Given the description of an element on the screen output the (x, y) to click on. 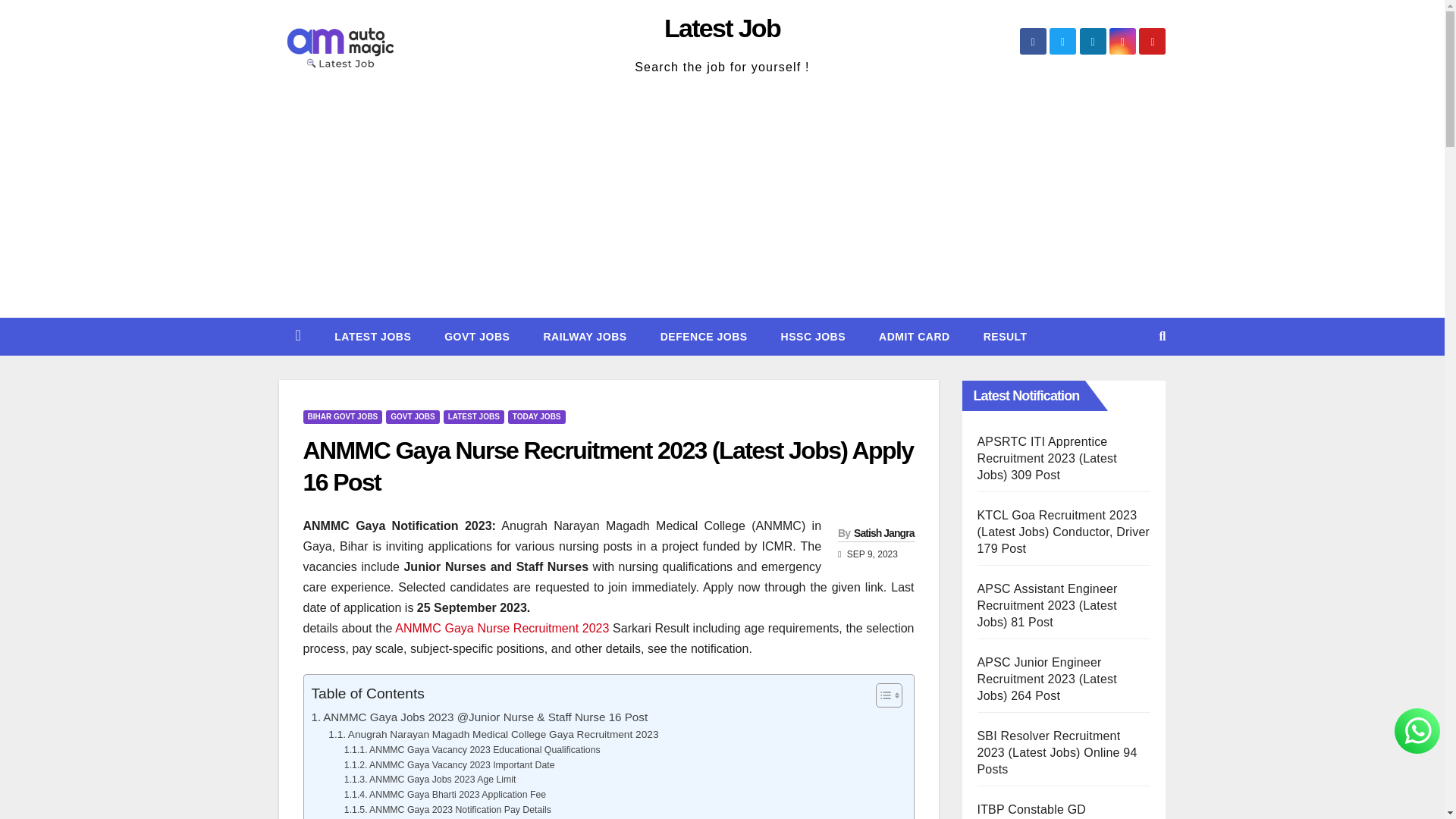
TODAY JOBS (537, 417)
Satish Jangra (883, 532)
Anugrah Narayan Magadh Medical College Gaya Recruitment 2023 (493, 734)
BIHAR GOVT JOBS (342, 417)
ANMMC Gaya Vacancy 2023 Educational Qualifications (471, 750)
ANMMC Gaya Jobs 2023 Age Limit (429, 780)
ANMMC Gaya 2023 Notification Pay Details (447, 810)
HSSC Jobs (812, 336)
GOVT JOBS (476, 336)
Admit Card (913, 336)
ANMMC Gaya 2023 Notification Pay Details (447, 810)
Defence Jobs (703, 336)
RAILWAY JOBS (584, 336)
Govt Jobs (476, 336)
Result (1004, 336)
